Given the description of an element on the screen output the (x, y) to click on. 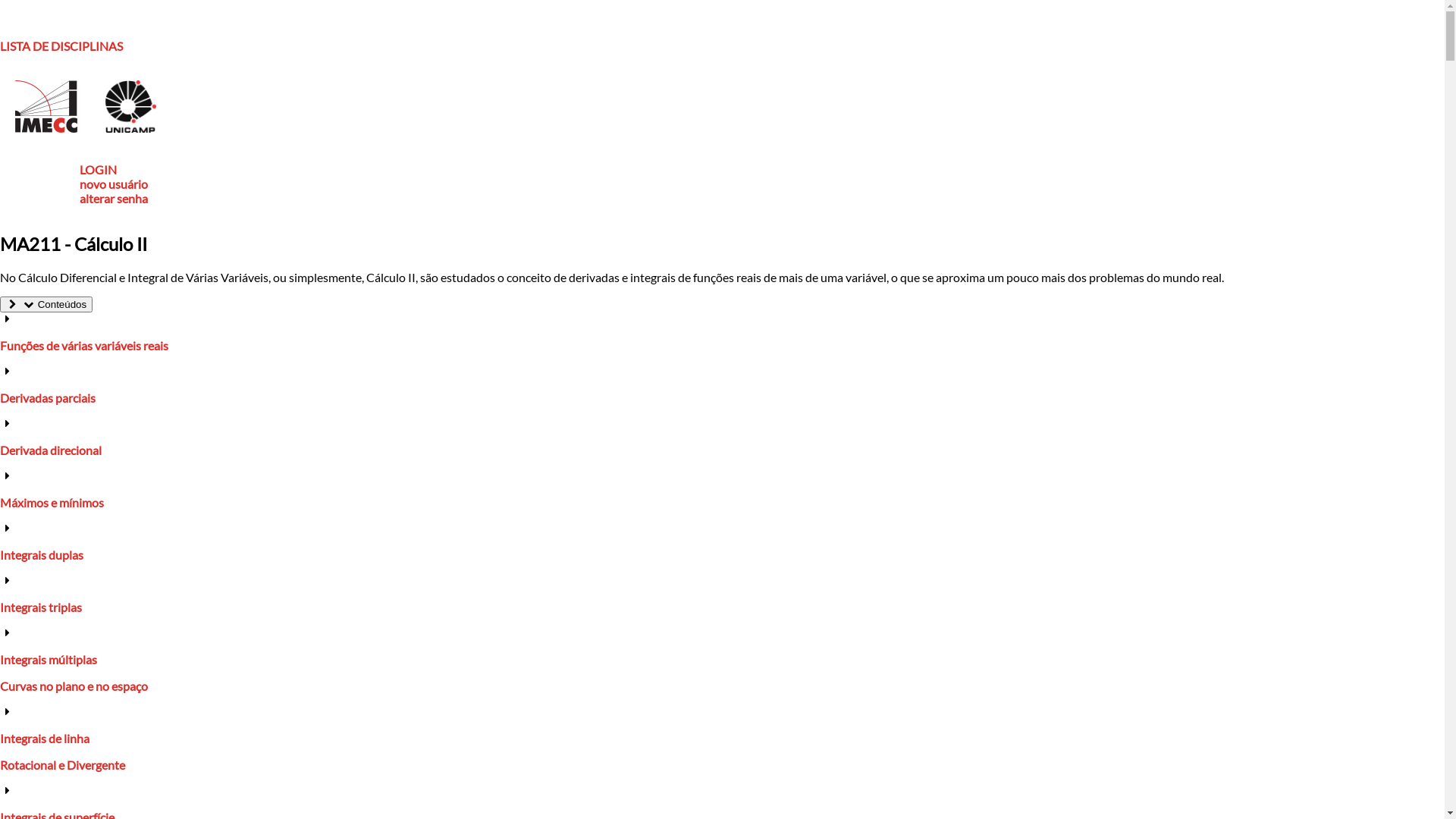
LOGIN Element type: text (97, 169)
Derivada direcional Element type: text (50, 449)
Integrais duplas Element type: text (41, 554)
Integrais de linha Element type: text (44, 738)
LISTA DE DISCIPLINAS Element type: text (61, 45)
Derivadas parciais Element type: text (47, 397)
Integrais triplas Element type: text (40, 606)
Rotacional e Divergente Element type: text (62, 764)
alterar senha Element type: text (113, 198)
